Given the description of an element on the screen output the (x, y) to click on. 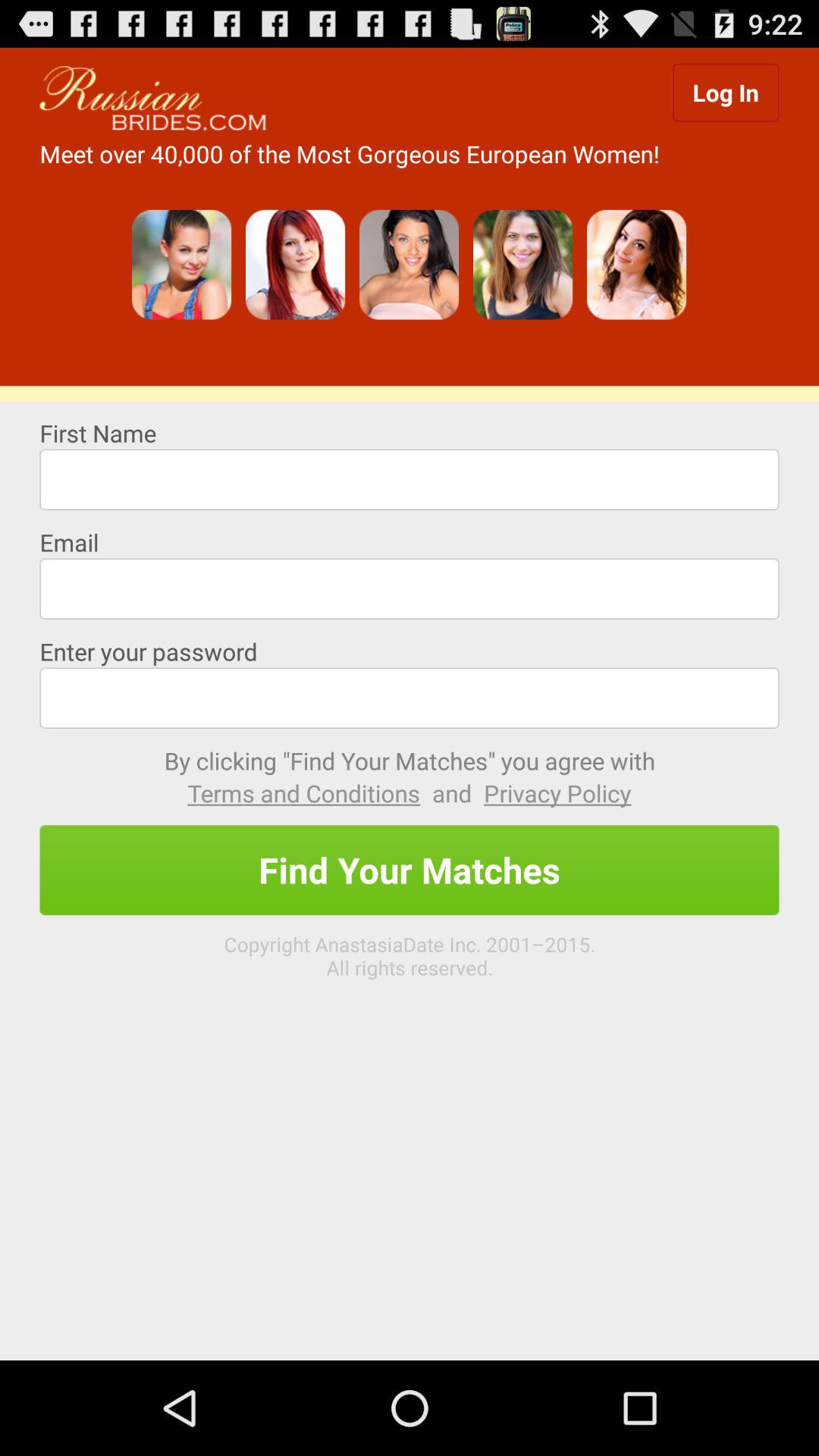
text box (409, 588)
